Given the description of an element on the screen output the (x, y) to click on. 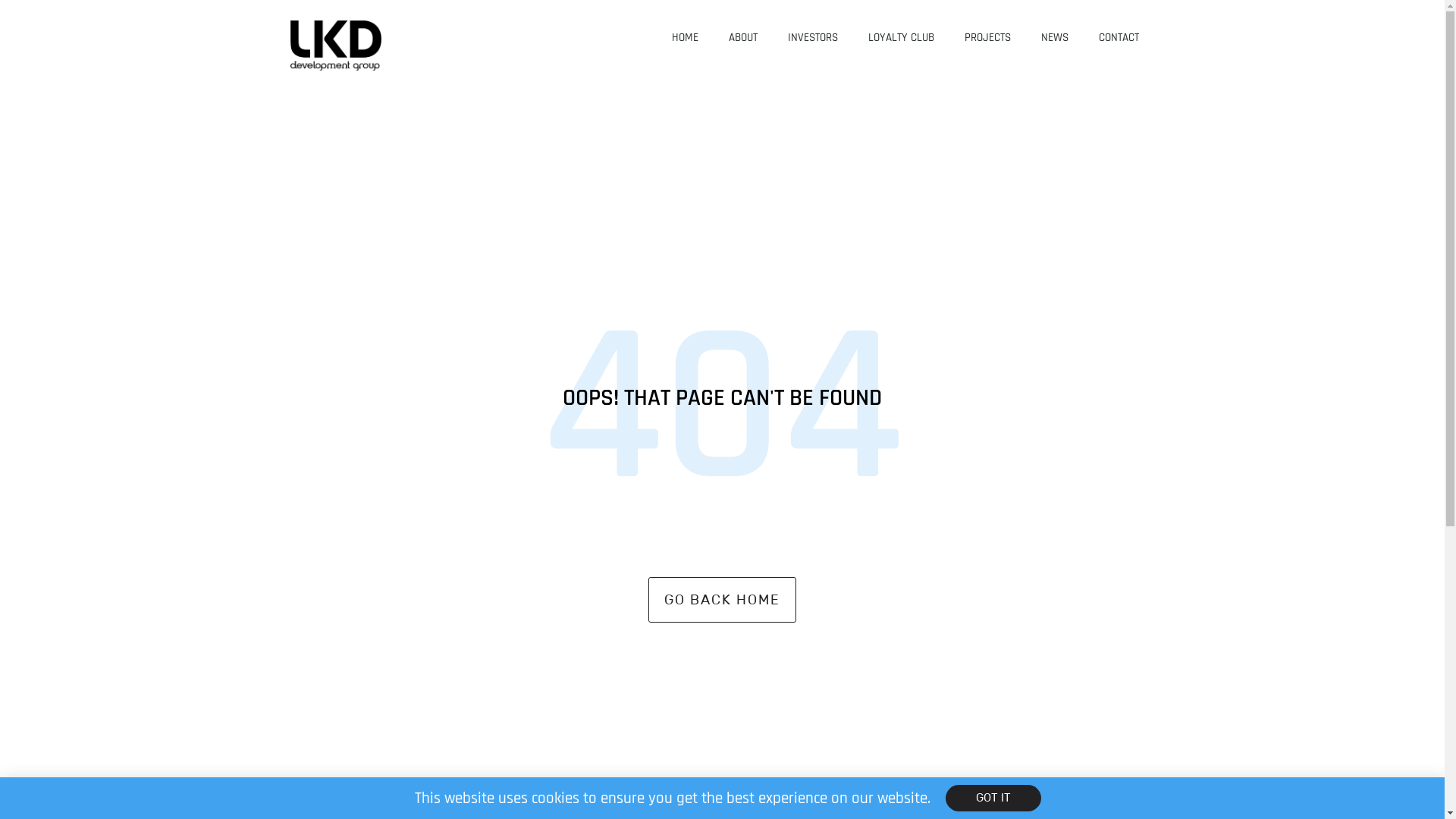
HOME Element type: text (684, 37)
CONTACT Element type: text (1118, 37)
LOYALTY CLUB Element type: text (901, 37)
NEWS Element type: text (1054, 37)
ABOUT Element type: text (742, 37)
INVESTORS Element type: text (812, 37)
GOT IT Element type: text (993, 797)
GO BACK HOME Element type: text (722, 599)
PROJECTS Element type: text (987, 37)
